Given the description of an element on the screen output the (x, y) to click on. 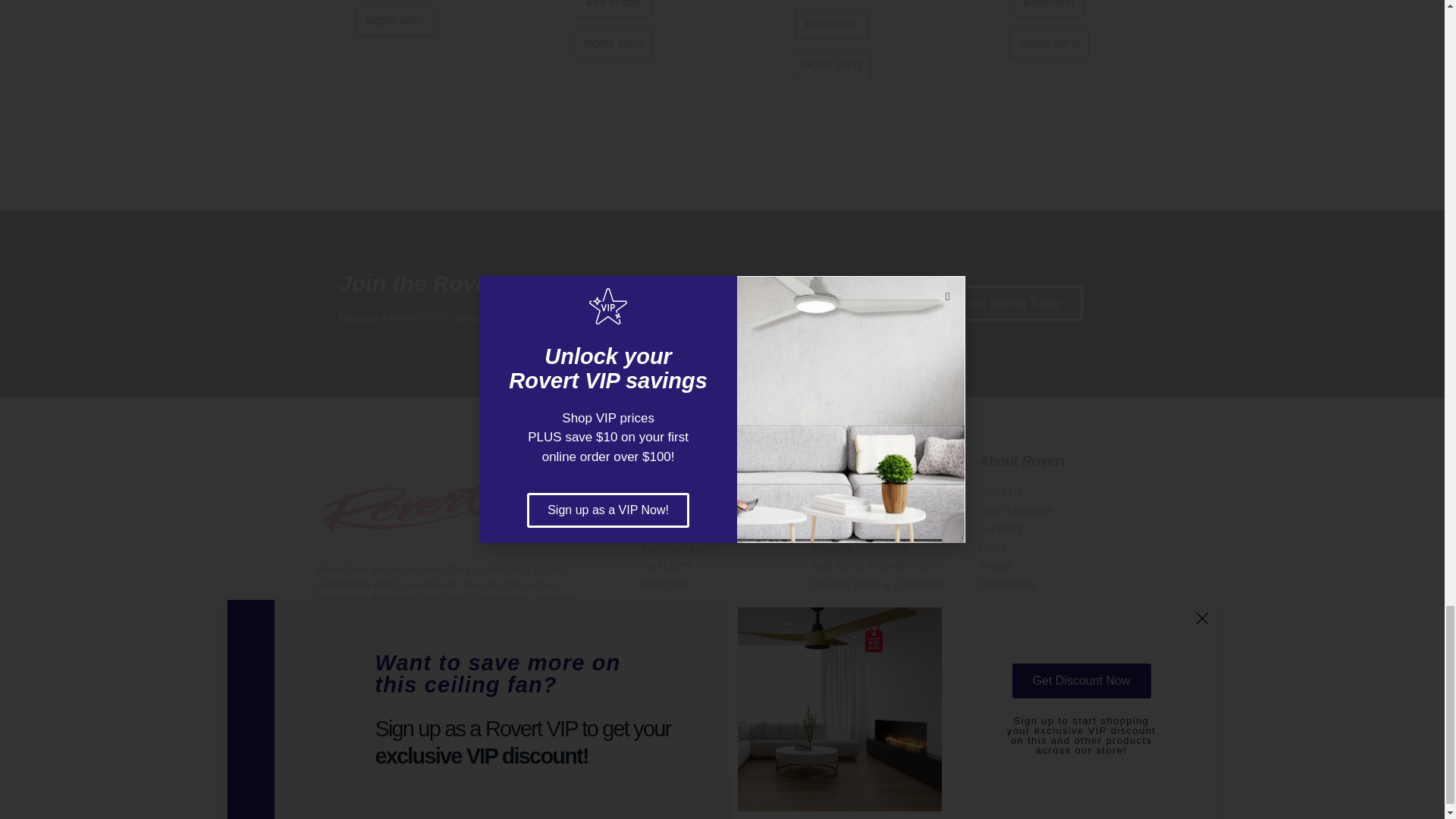
web design newcastle (522, 752)
